Given the description of an element on the screen output the (x, y) to click on. 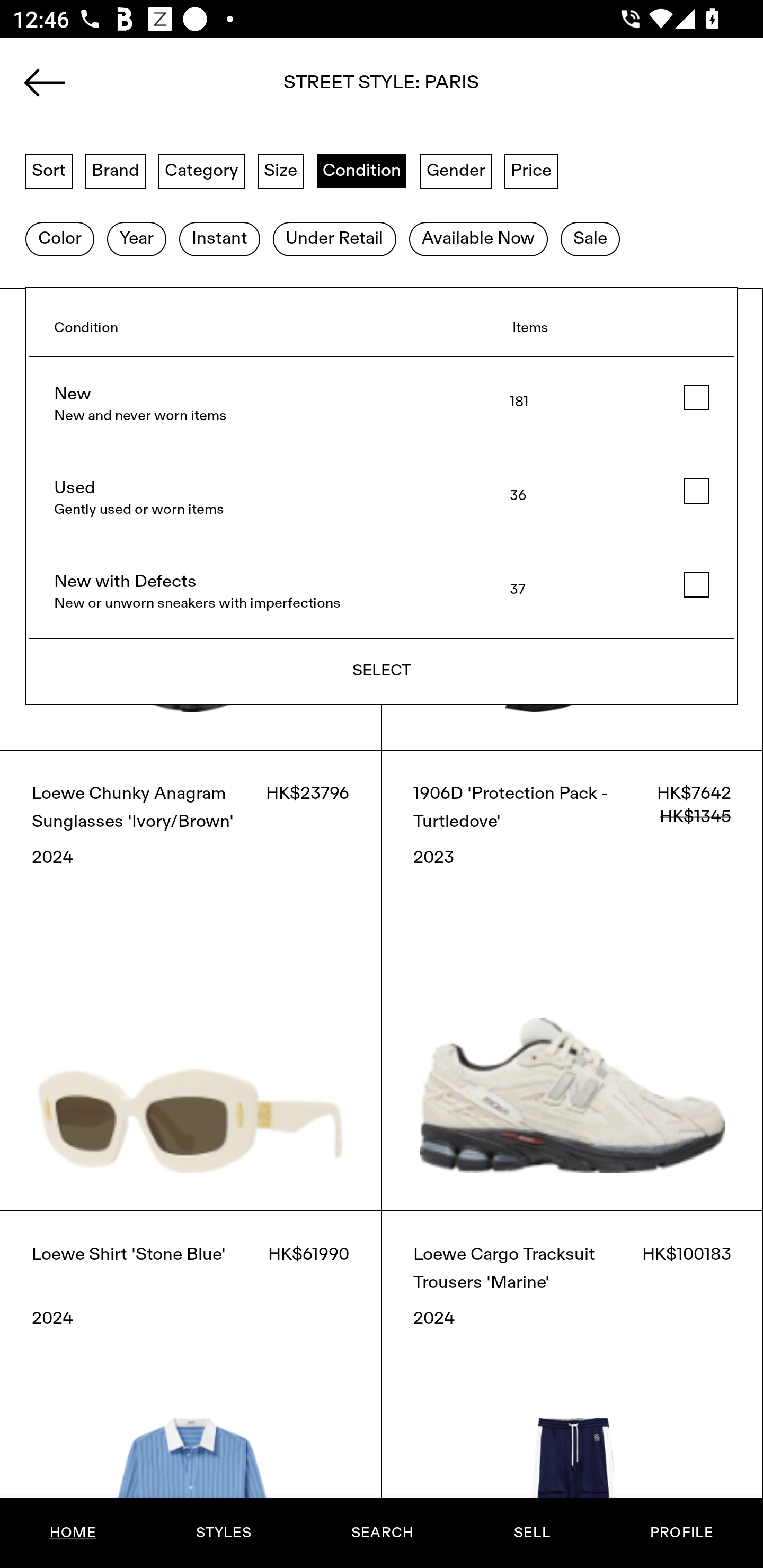
basketball shoes (381, 88)
Sort (48, 170)
Brand (115, 170)
Category (201, 170)
Size (280, 170)
Condition (361, 170)
Gender (455, 170)
Price (530, 170)
Color (59, 239)
Year (136, 239)
Instant (219, 239)
Under Retail (334, 239)
Available Now (477, 239)
Sale (589, 239)
New New and never worn items 181 (381, 404)
Used Gently used or worn items 36 (381, 497)
SELECT (381, 670)
Loewe Shirt 'Stone Blue' HK$61990 2024 (190, 1389)
HOME (72, 1532)
STYLES (222, 1532)
SEARCH (381, 1532)
SELL (531, 1532)
PROFILE (681, 1532)
